Given the description of an element on the screen output the (x, y) to click on. 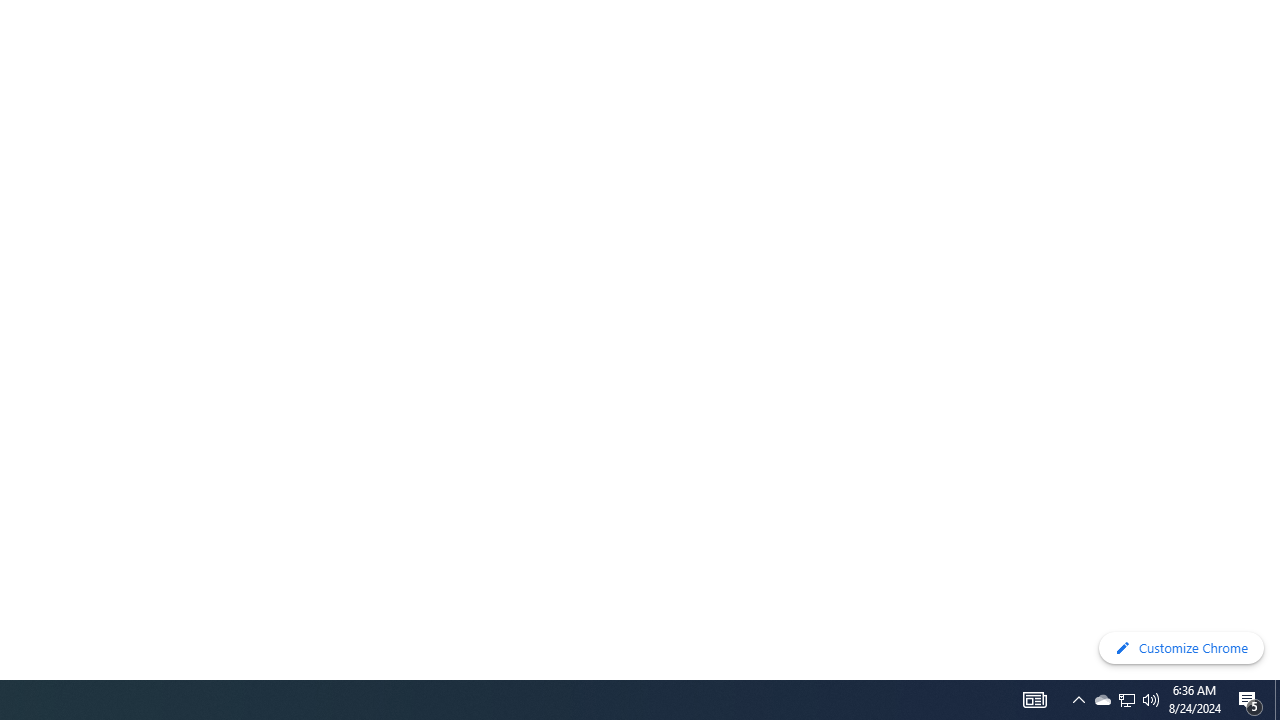
Customize Chrome (1181, 647)
